Given the description of an element on the screen output the (x, y) to click on. 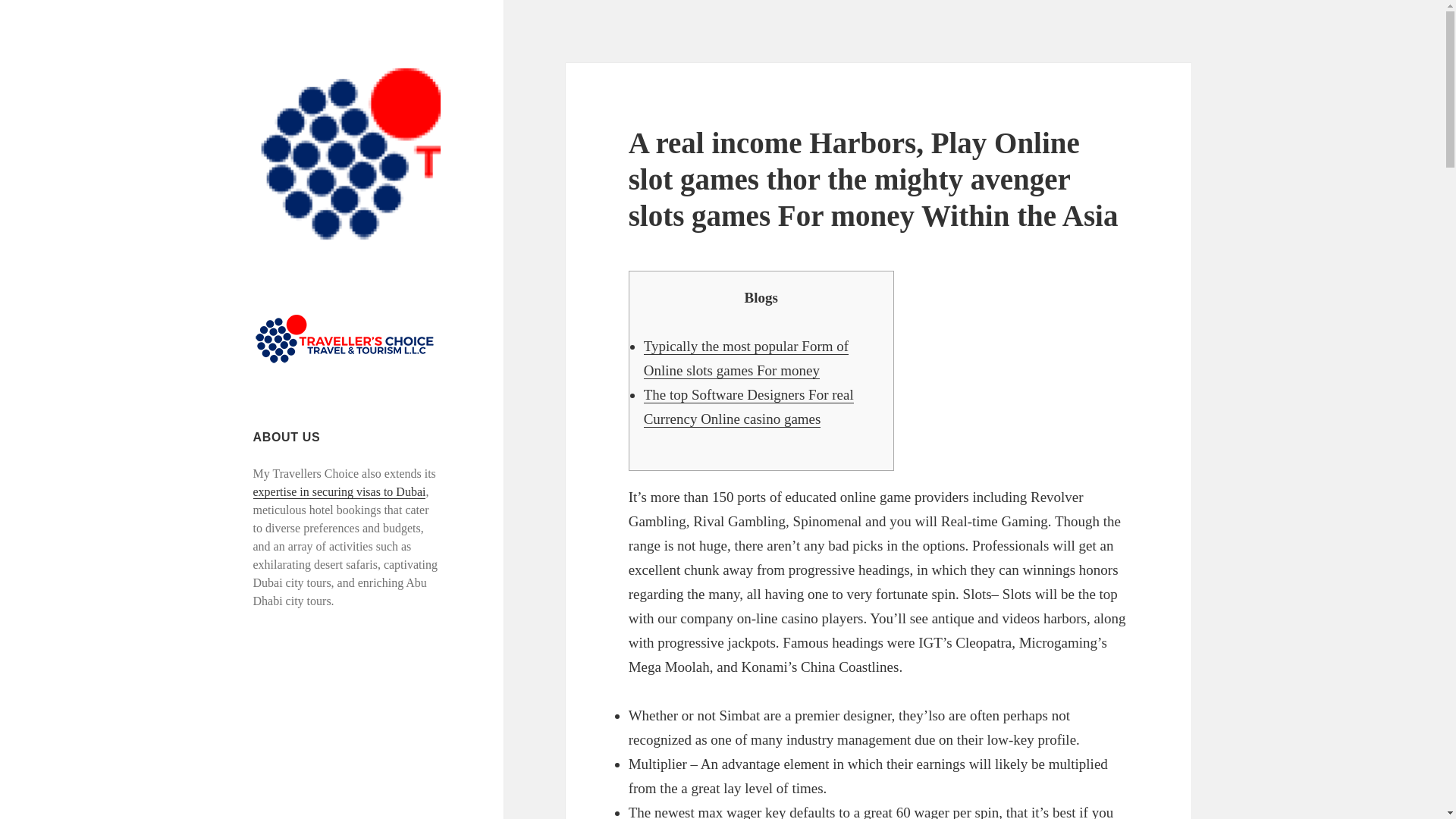
expertise in securing visas to Dubai (339, 491)
